Given the description of an element on the screen output the (x, y) to click on. 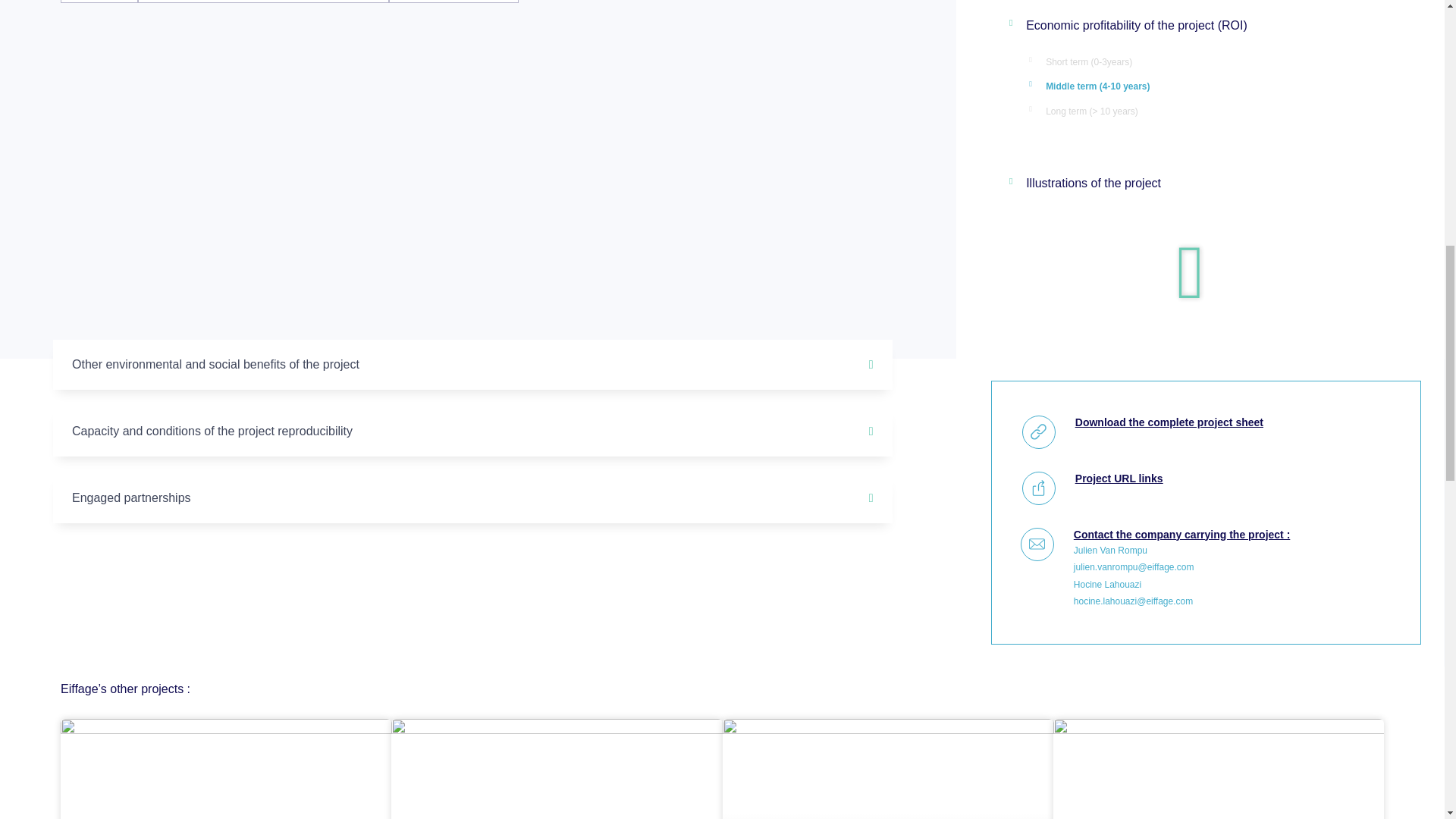
Capacity and conditions of the project reproducibility (211, 431)
Download the complete project sheet (1169, 422)
Play (1190, 272)
Engaged partnerships (130, 497)
Project URL links (1119, 478)
Other environmental and social benefits of the project (215, 364)
